Given the description of an element on the screen output the (x, y) to click on. 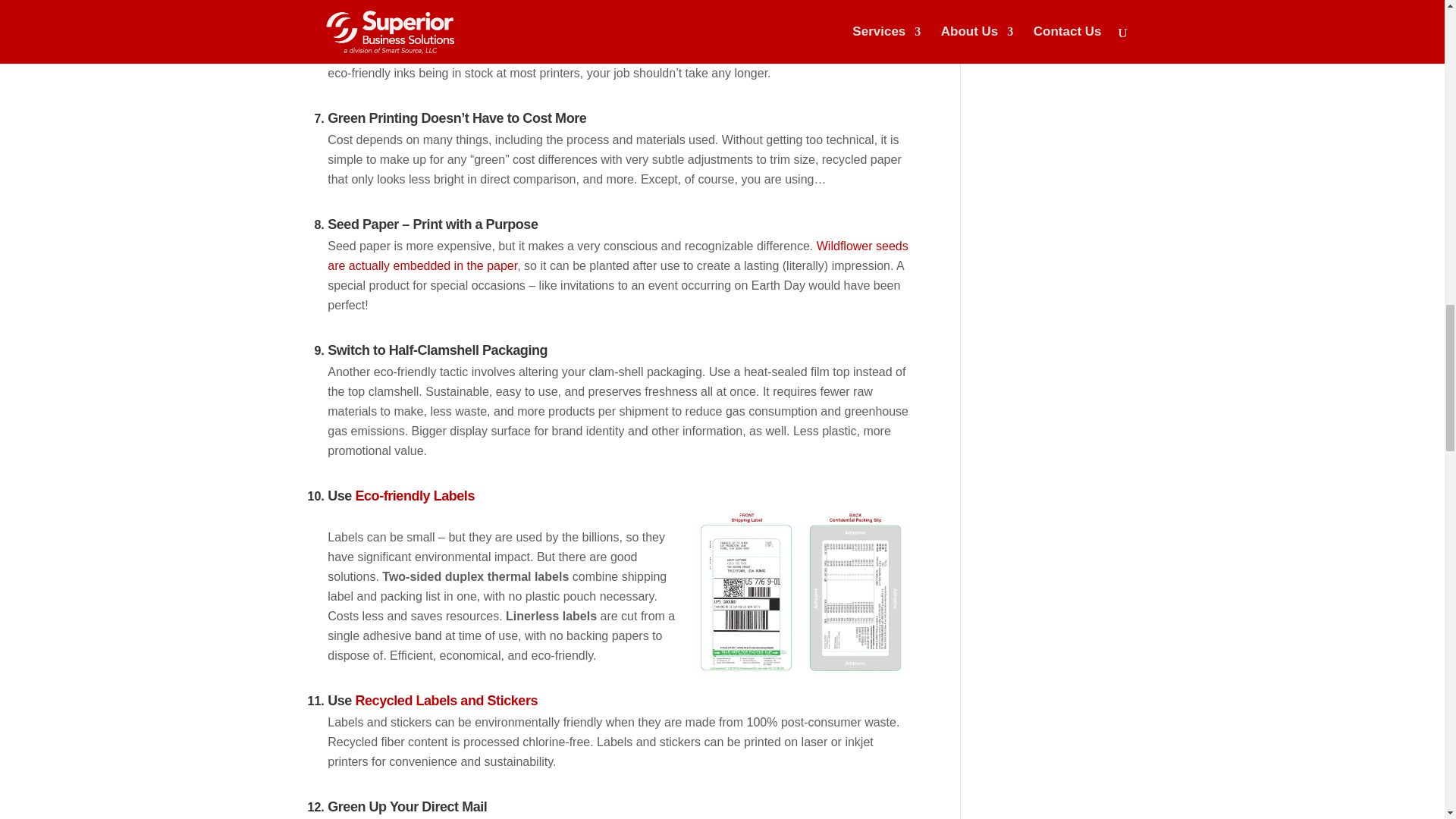
Eco-friendly Labels (414, 495)
Recycled Labels and Stickers (446, 700)
Wildflower seeds are actually embedded in the paper (617, 255)
